Given the description of an element on the screen output the (x, y) to click on. 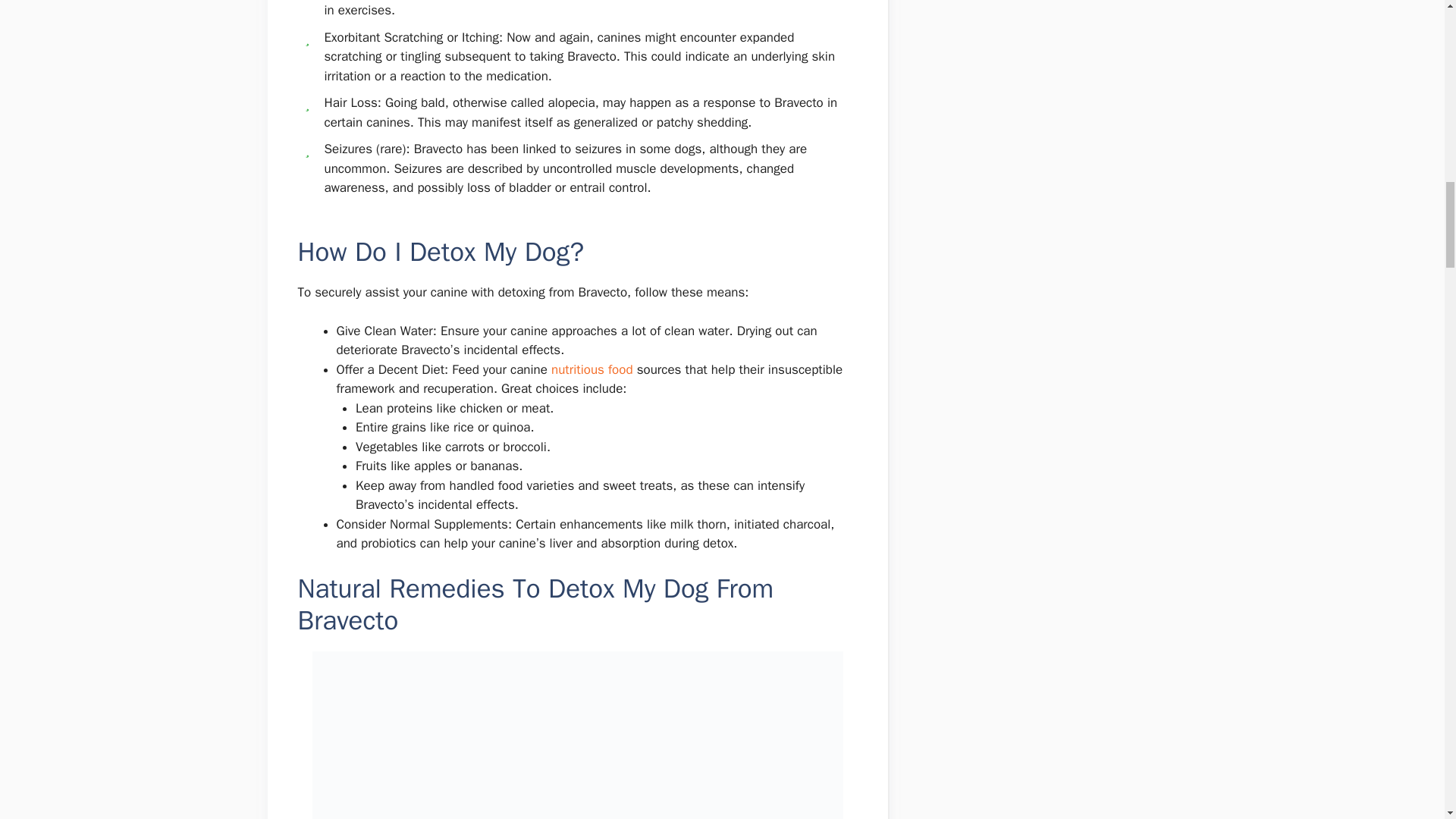
nutritious food (594, 369)
